Given the description of an element on the screen output the (x, y) to click on. 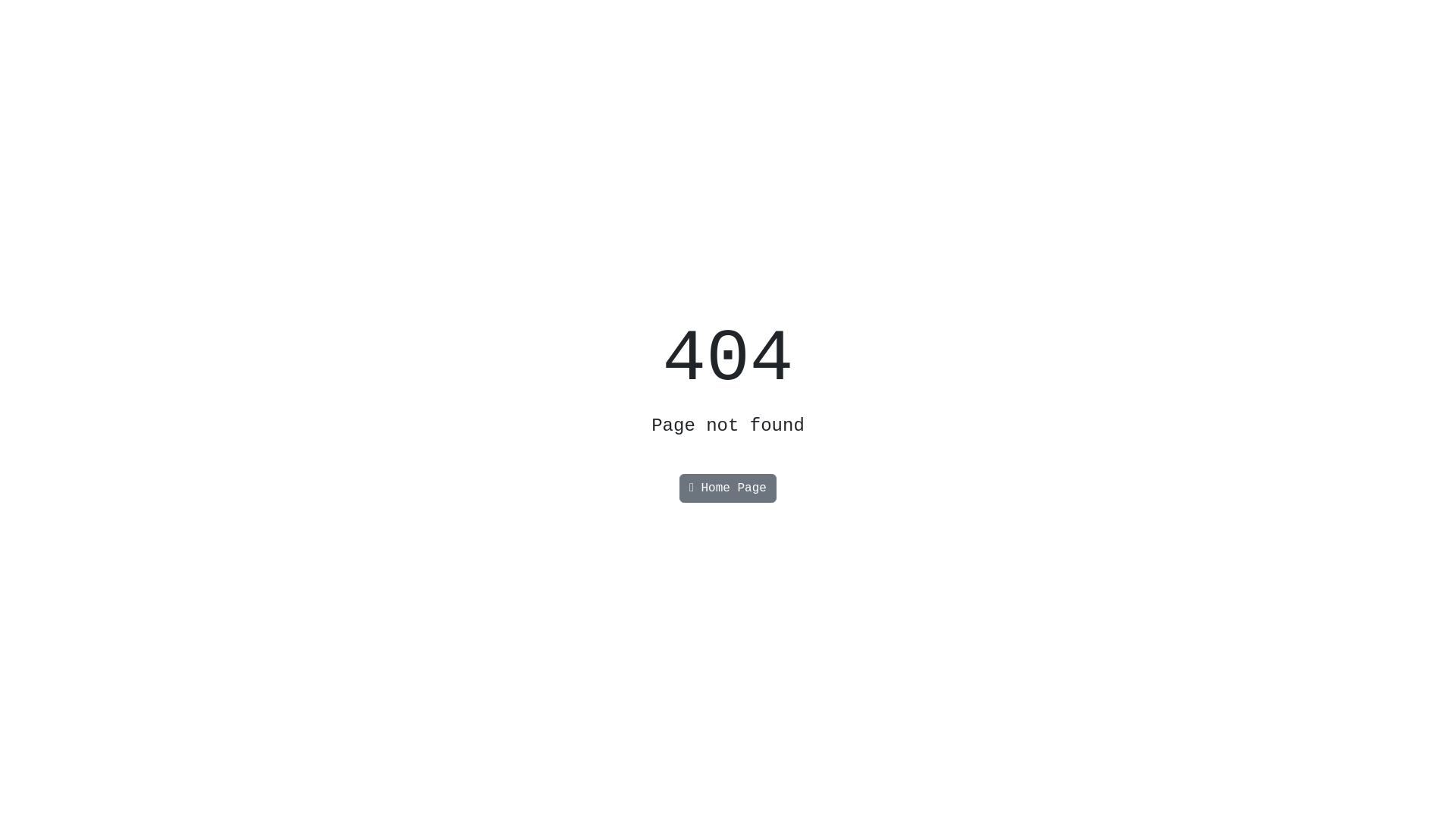
Home Page Element type: text (727, 487)
